Given the description of an element on the screen output the (x, y) to click on. 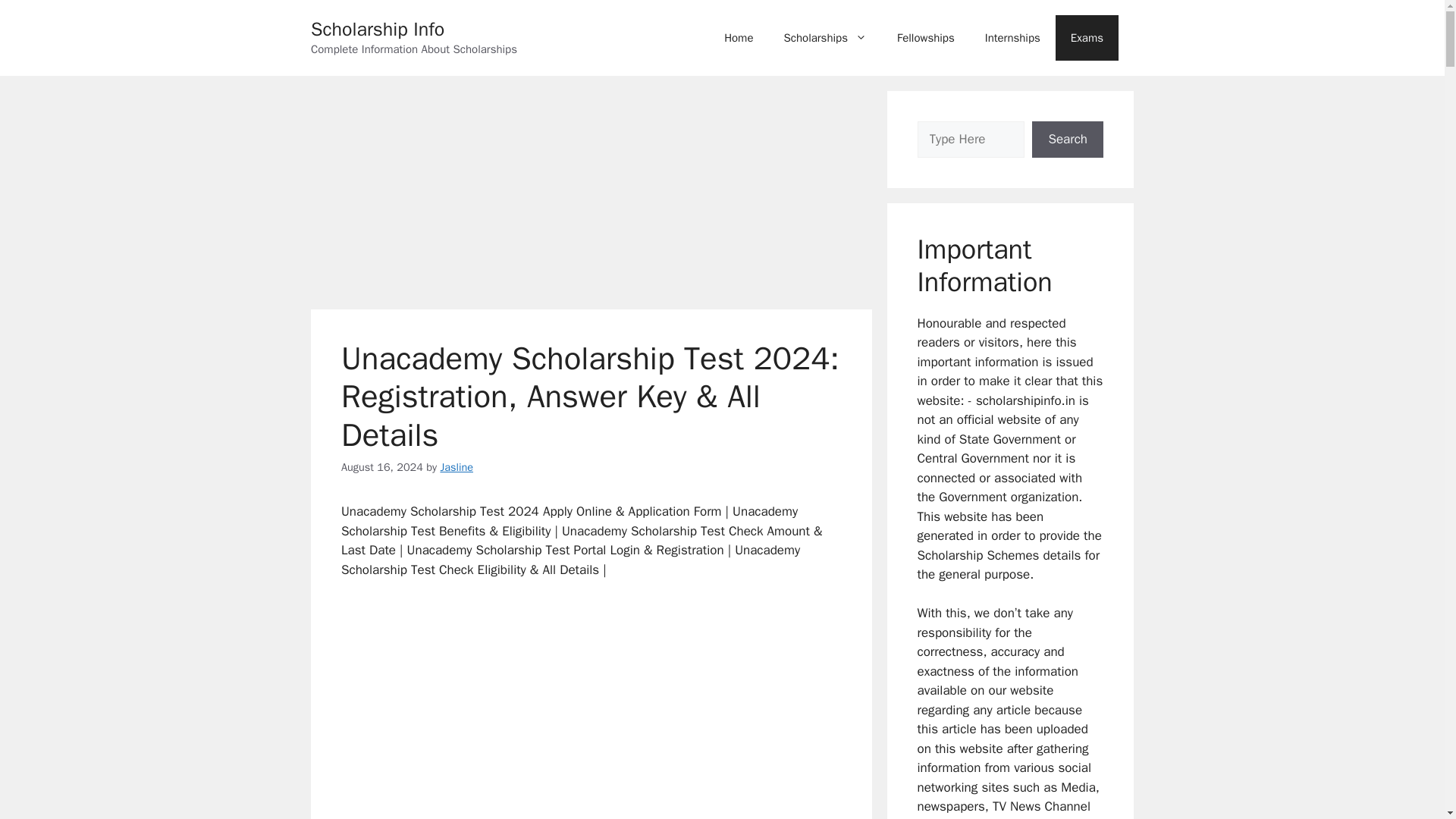
Advertisement (591, 196)
Scholarship Info (377, 28)
View all posts by Jasline (456, 467)
Jasline (456, 467)
Scholarships (825, 37)
Fellowships (925, 37)
Exams (1086, 37)
Advertisement (590, 704)
Internships (1012, 37)
Home (738, 37)
